Given the description of an element on the screen output the (x, y) to click on. 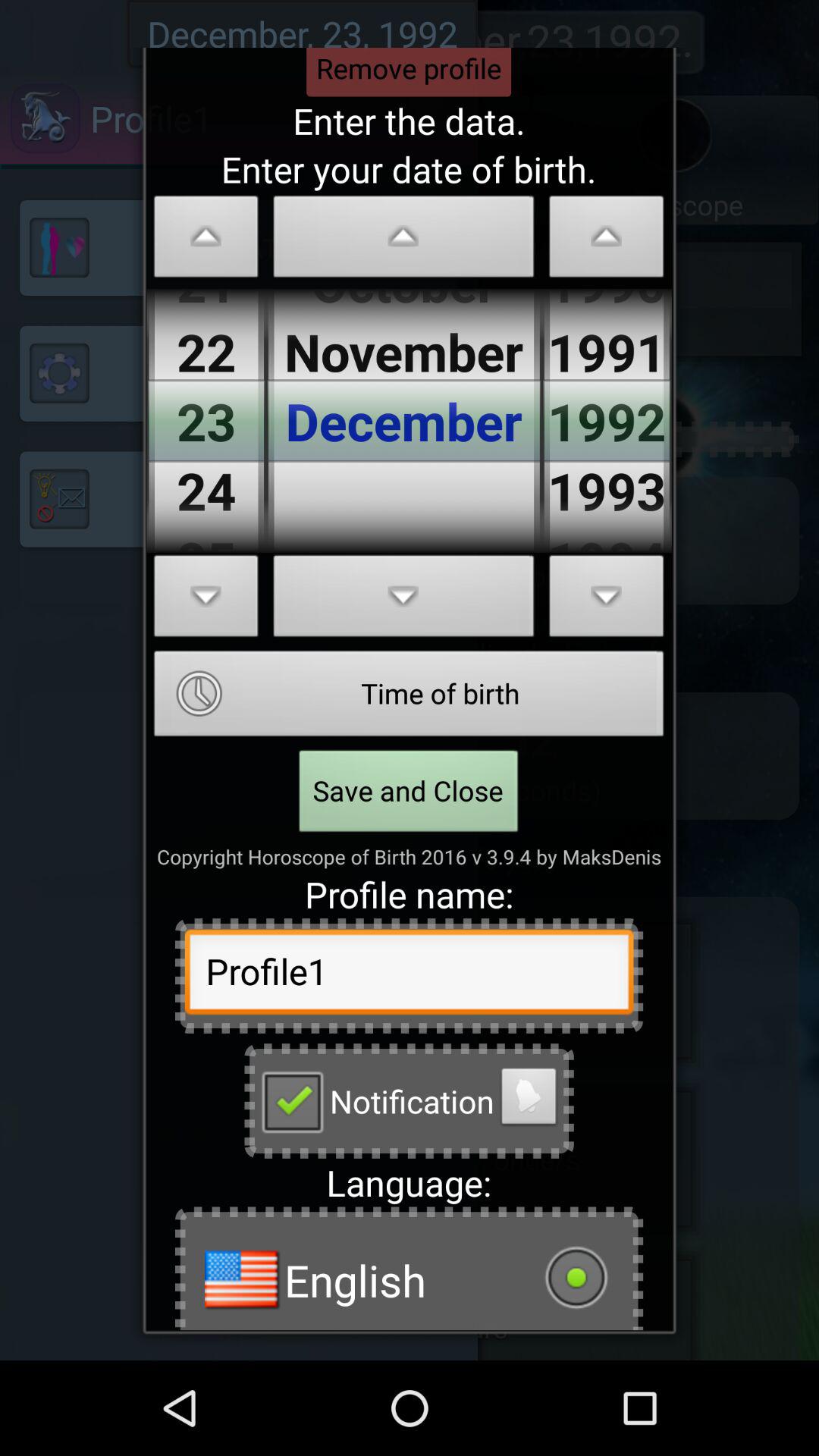
turn notifications on (529, 1100)
